Given the description of an element on the screen output the (x, y) to click on. 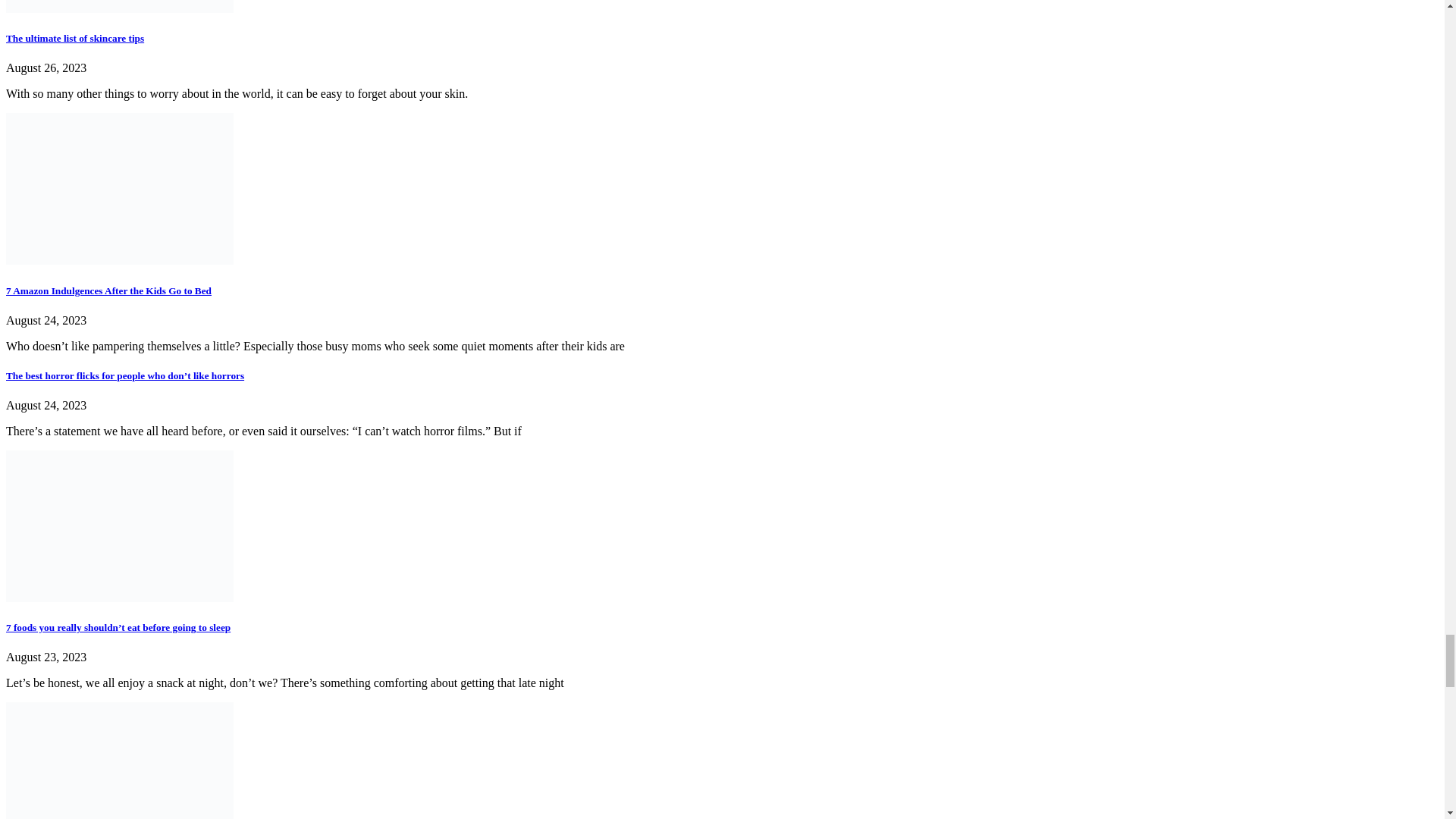
7 Amazon Indulgences After the Kids Go to Bed (108, 290)
The ultimate list of skincare tips (74, 38)
